Given the description of an element on the screen output the (x, y) to click on. 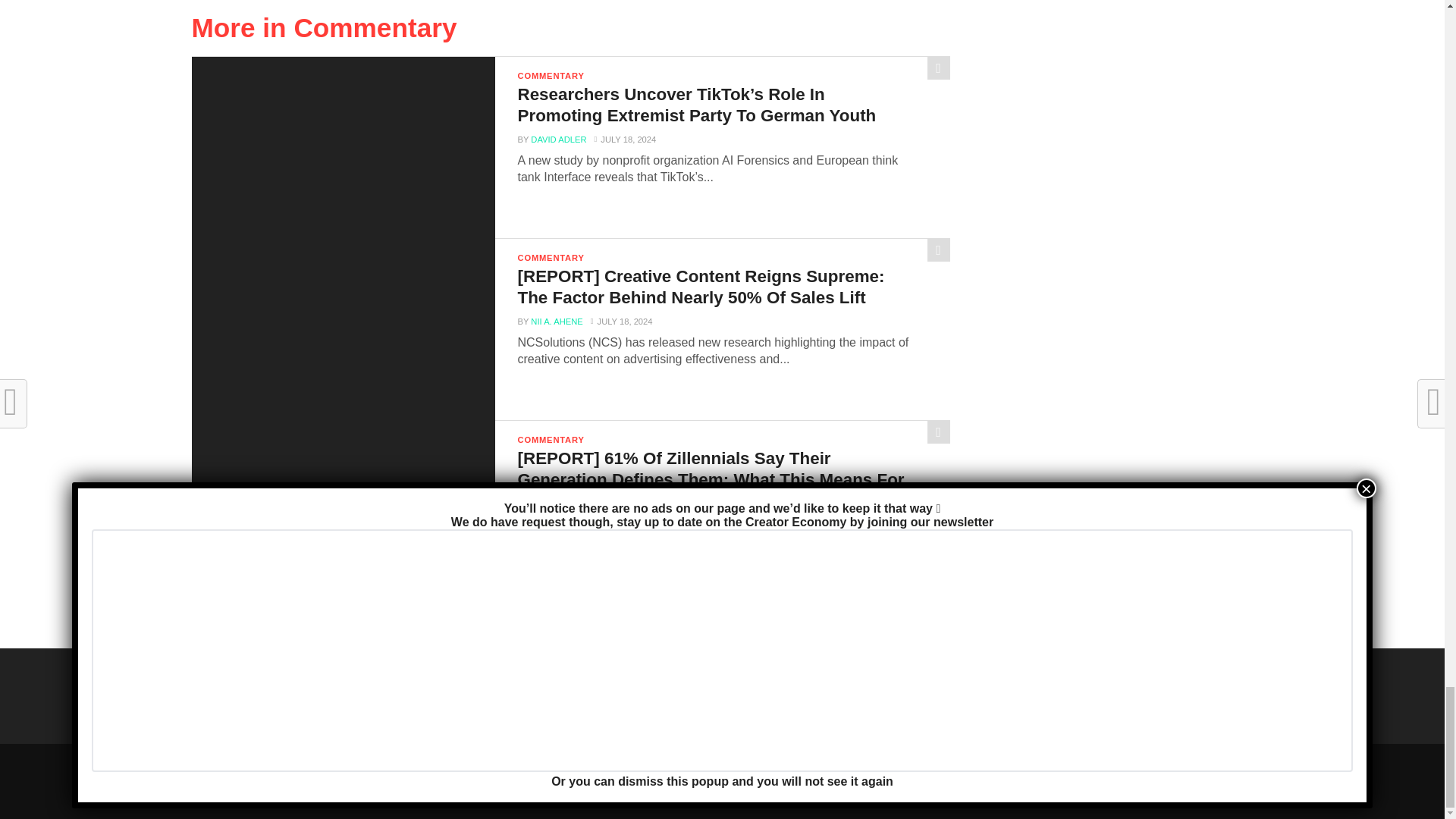
Posts by David Adler (558, 139)
Posts by Nii A. Ahene (556, 320)
Posts by Nii A. Ahene (556, 523)
